Given the description of an element on the screen output the (x, y) to click on. 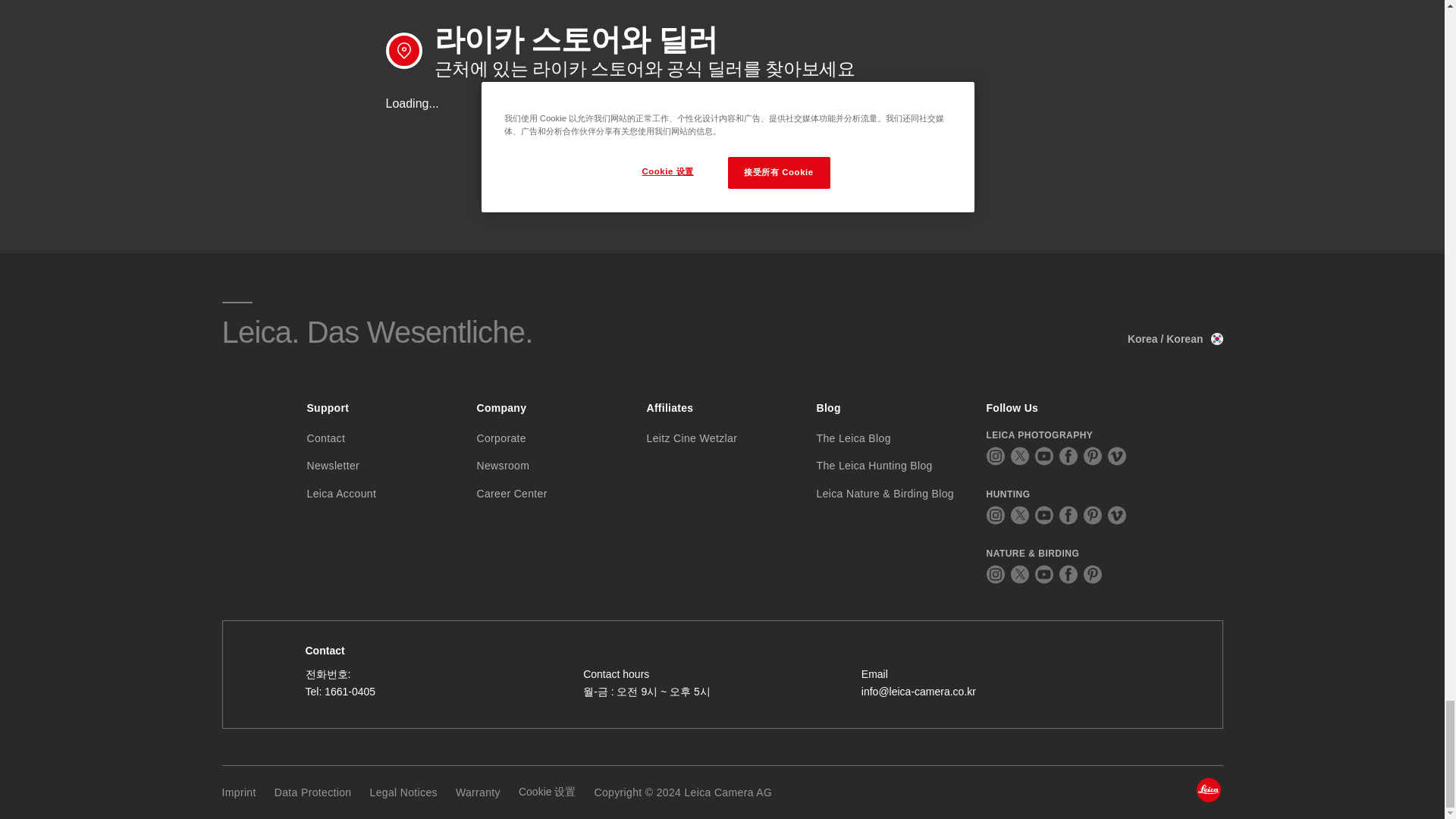
Link to Cookies settings pop-up (546, 792)
